Given the description of an element on the screen output the (x, y) to click on. 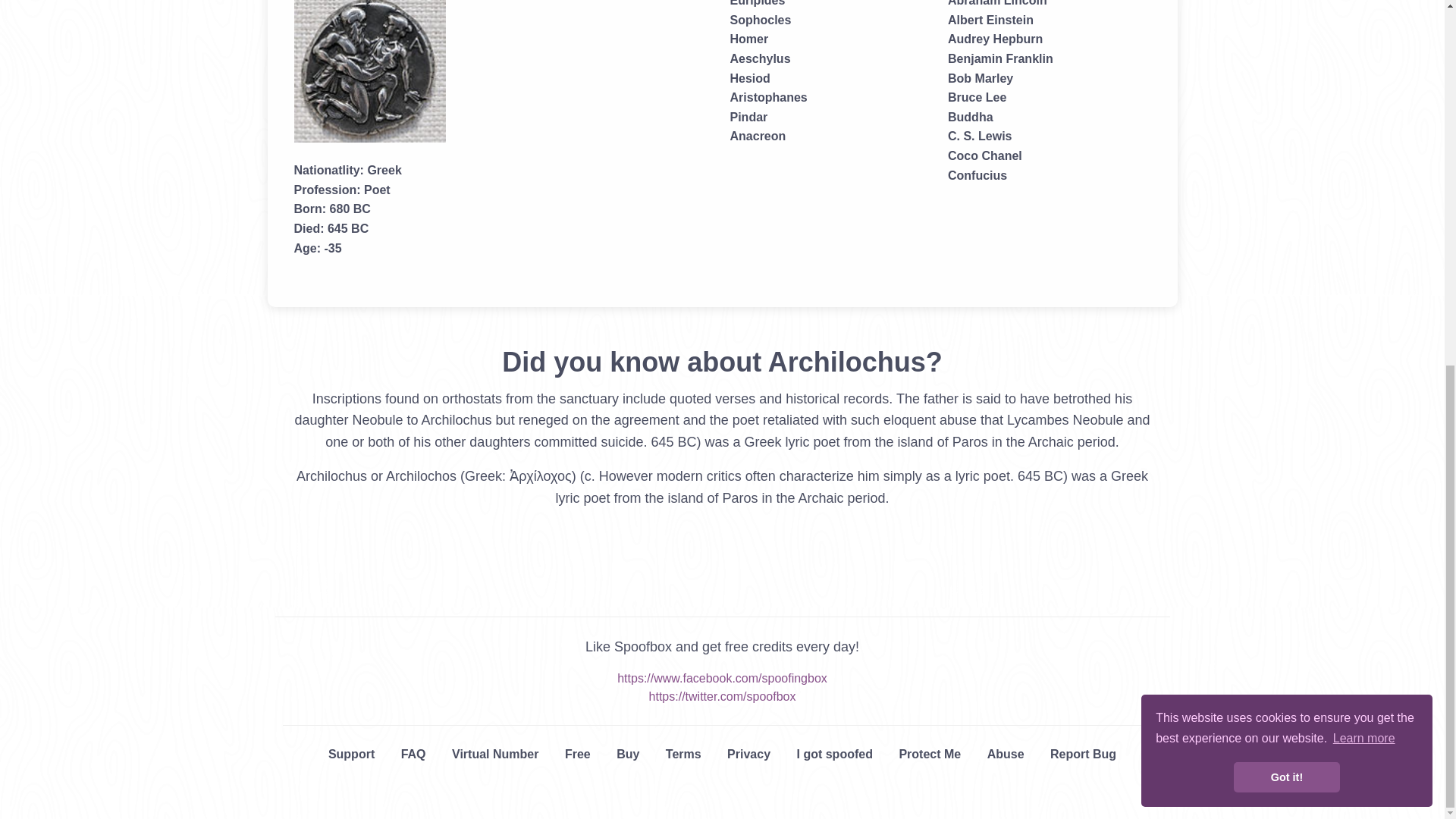
Learn more (1363, 82)
Got it! (1286, 121)
